Given the description of an element on the screen output the (x, y) to click on. 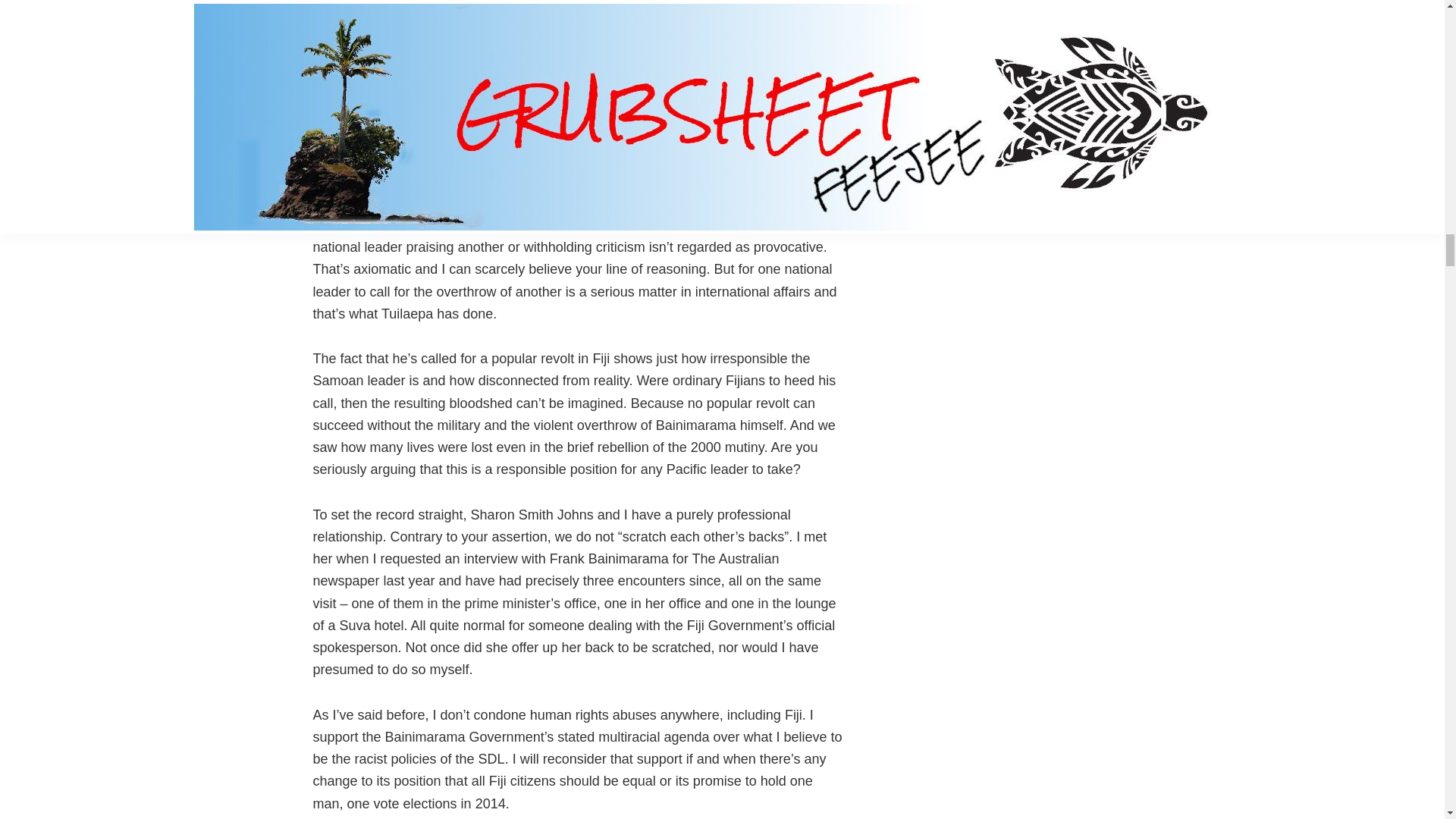
June 20, 2011 at 10:10 am (450, 180)
Reply (375, 105)
